Given the description of an element on the screen output the (x, y) to click on. 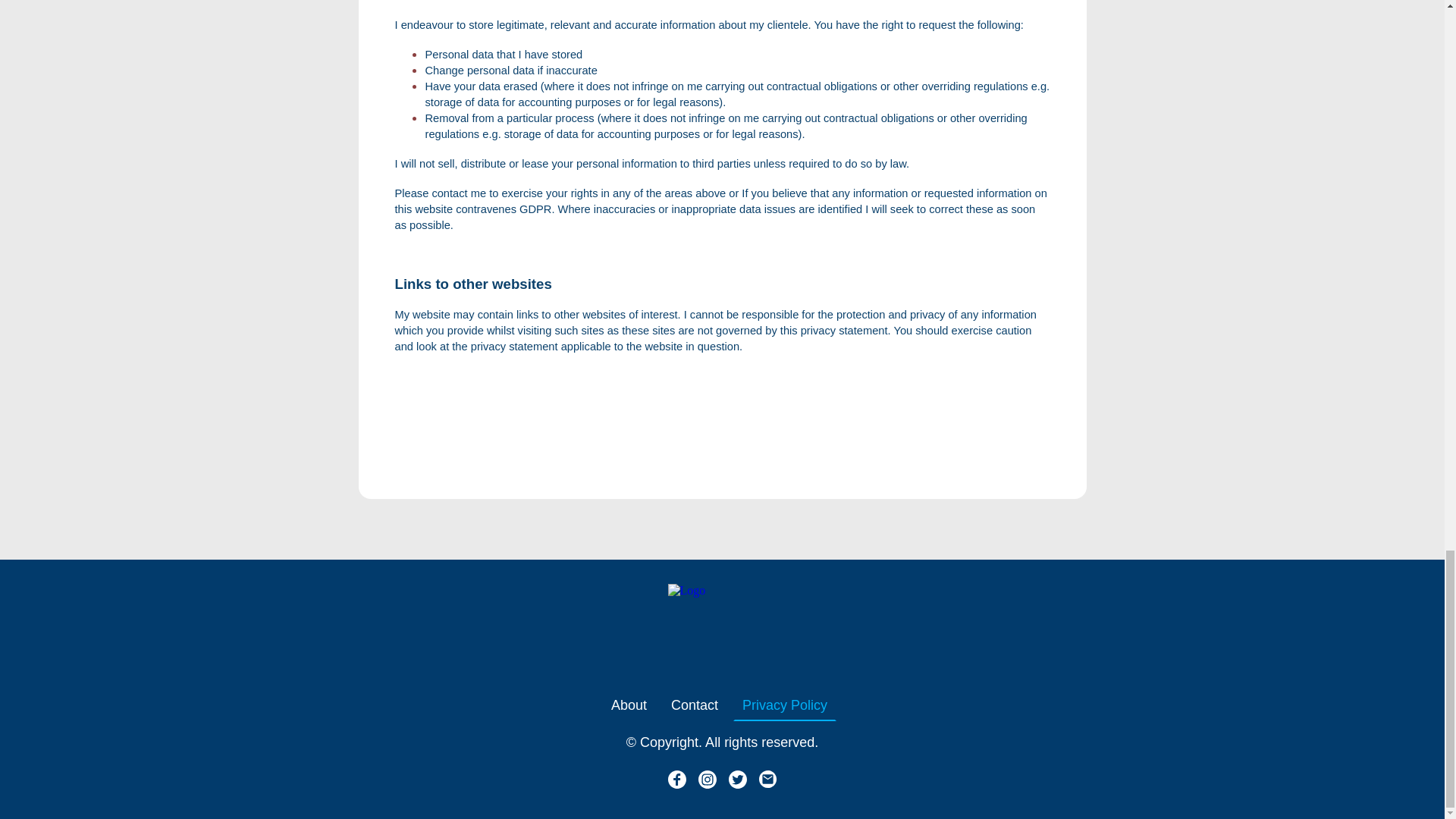
About (628, 705)
Privacy Policy (784, 705)
Contact (694, 705)
